Given the description of an element on the screen output the (x, y) to click on. 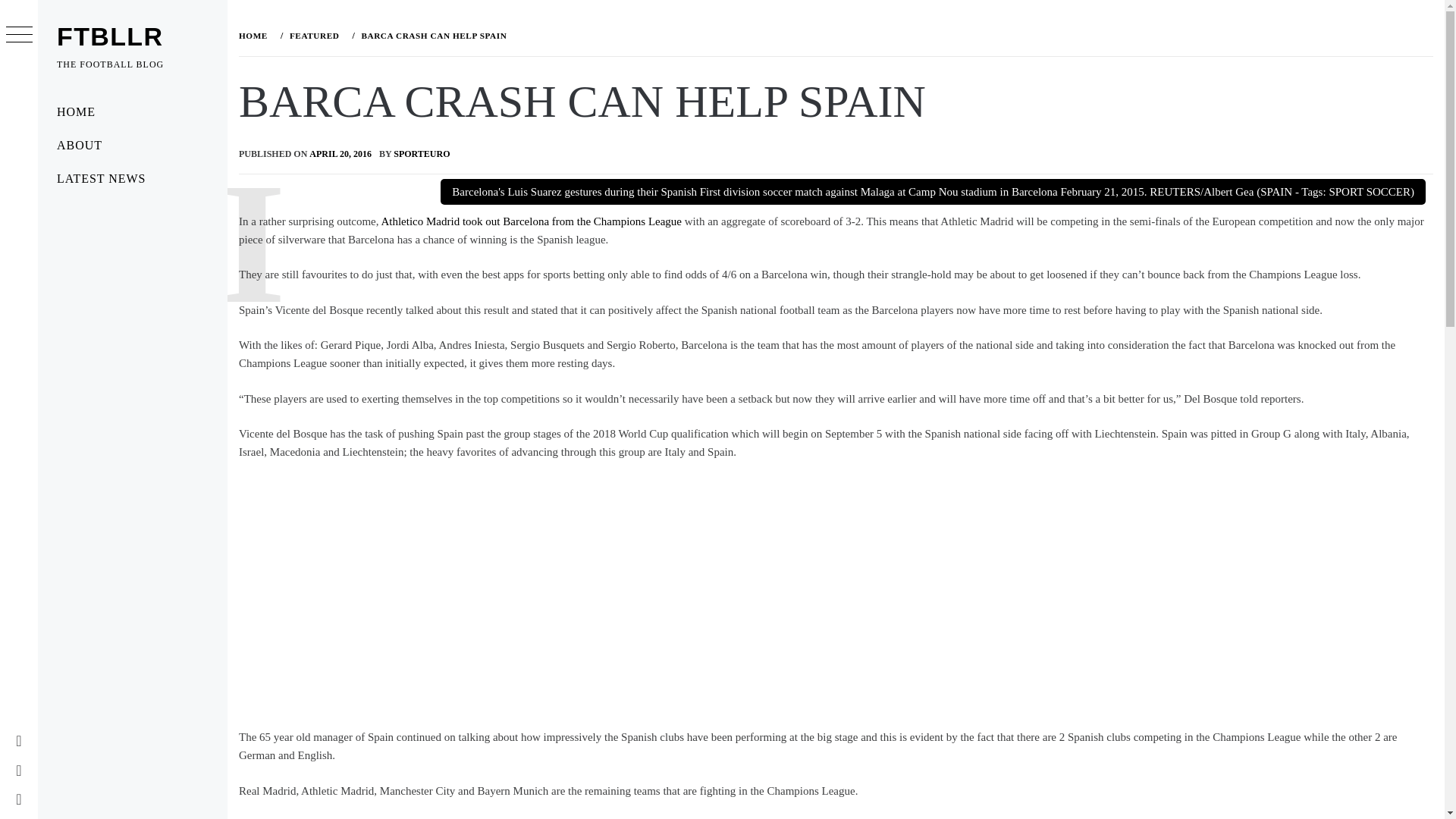
APRIL 20, 2016 (339, 153)
HOME (132, 111)
LATEST NEWS (132, 178)
FTBLLR (109, 36)
SPORTEURO (421, 153)
BARCA CRASH CAN HELP SPAIN (432, 35)
FEATURED (313, 35)
HOME (255, 35)
Search (646, 37)
ABOUT (132, 145)
